Given the description of an element on the screen output the (x, y) to click on. 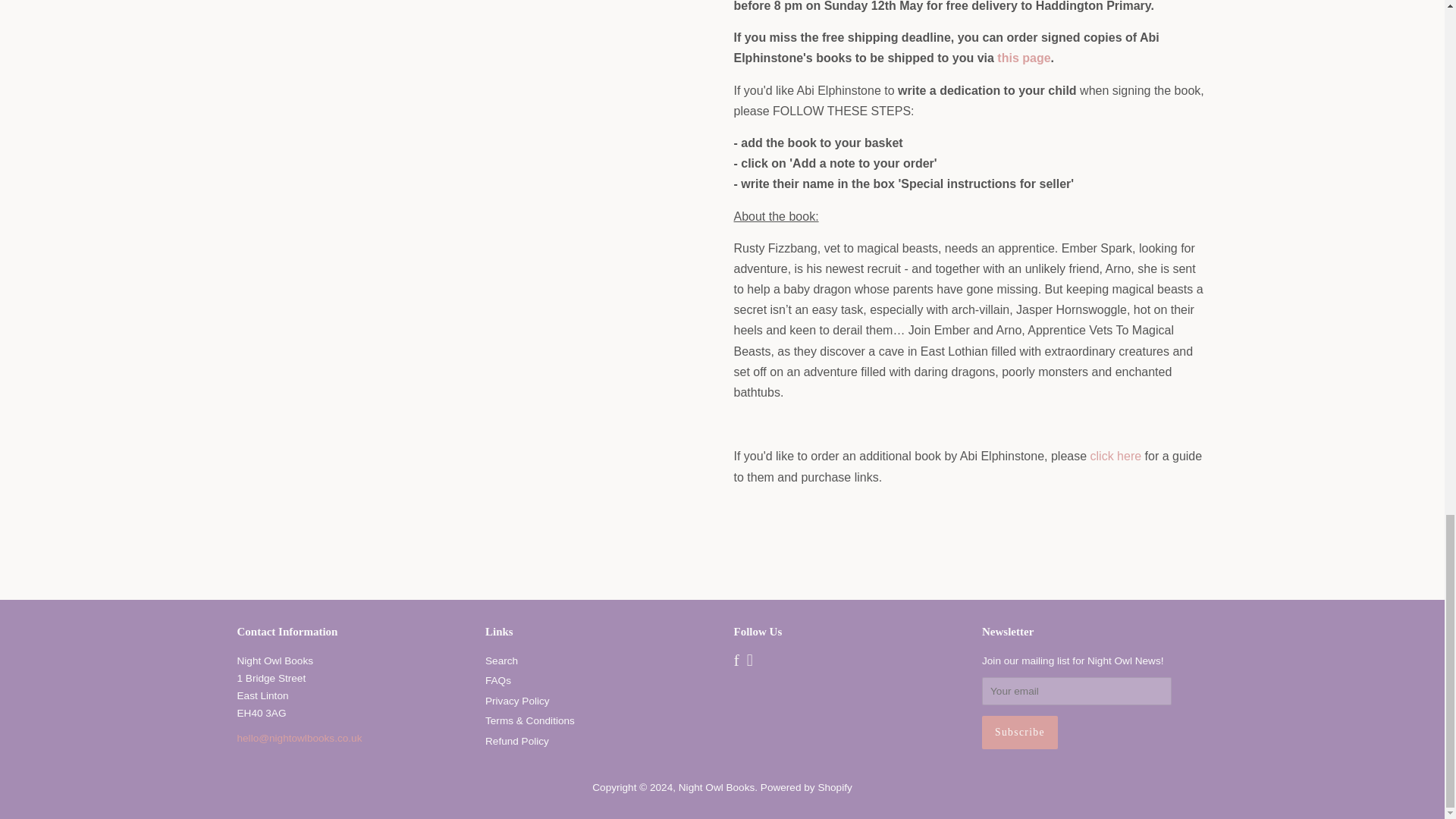
this page (1023, 57)
Subscribe (1019, 732)
click here (1115, 455)
